Given the description of an element on the screen output the (x, y) to click on. 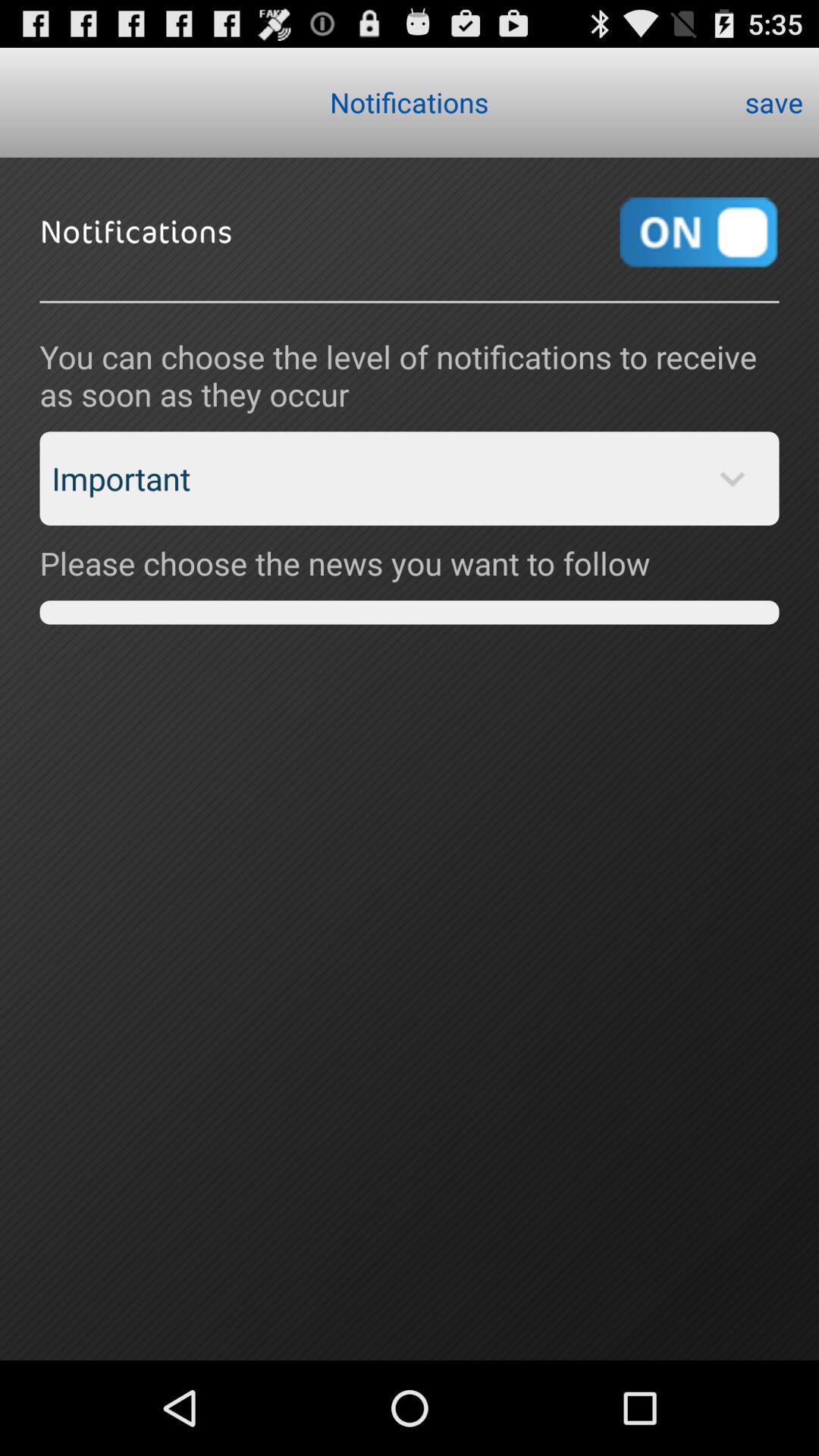
open the app above please choose the app (409, 478)
